Given the description of an element on the screen output the (x, y) to click on. 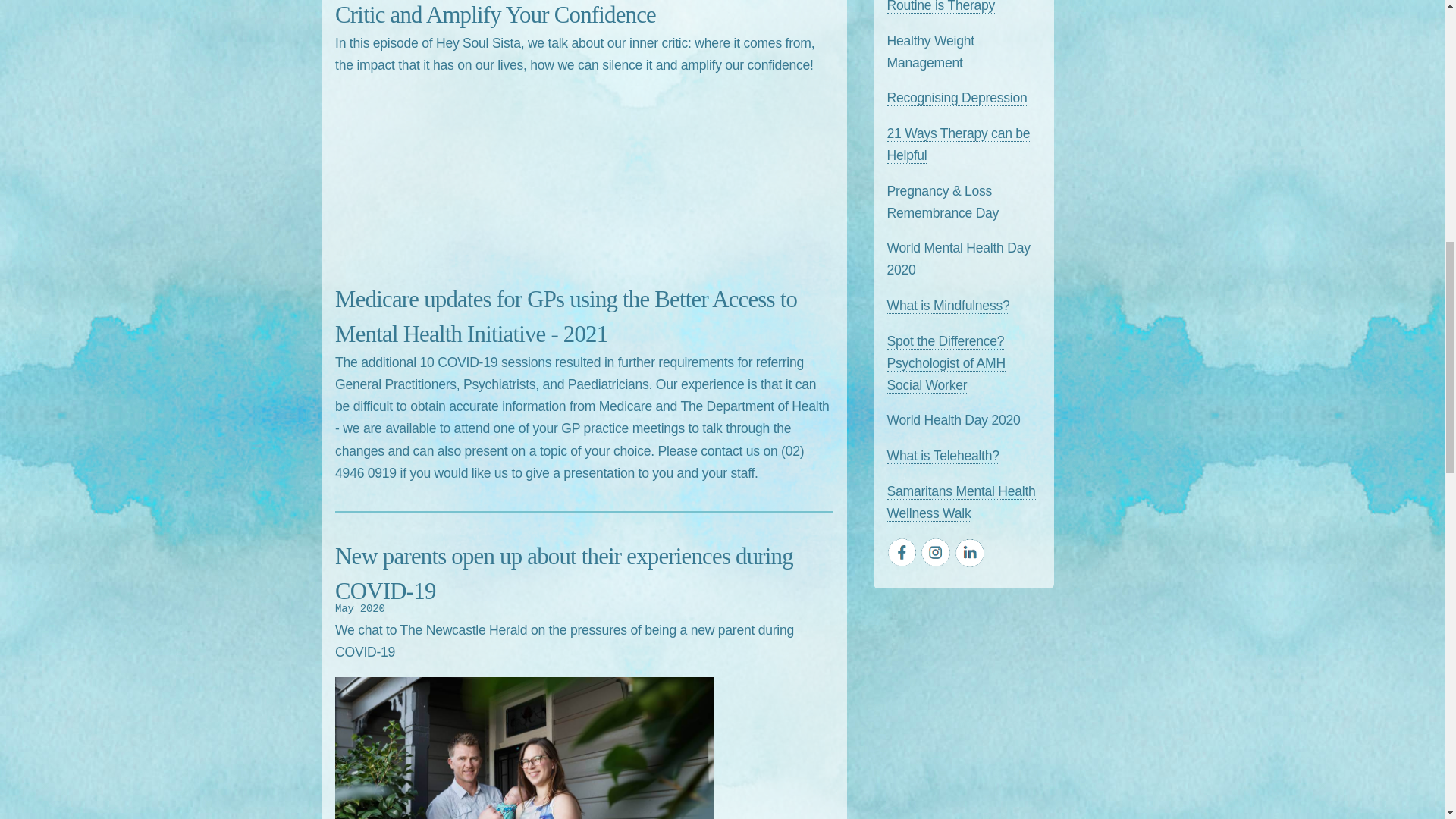
Depression and Treatment (956, 98)
World Mental Health Day 2020 (958, 259)
Healthy Weight Management (930, 52)
Implementing Routine (940, 6)
Facebook Post (958, 144)
Pregnancy and Infant Loss Remembrance Day (942, 202)
Recognising Depression (956, 98)
Routine is Therapy (940, 6)
Healthy Weight Management (930, 52)
